Given the description of an element on the screen output the (x, y) to click on. 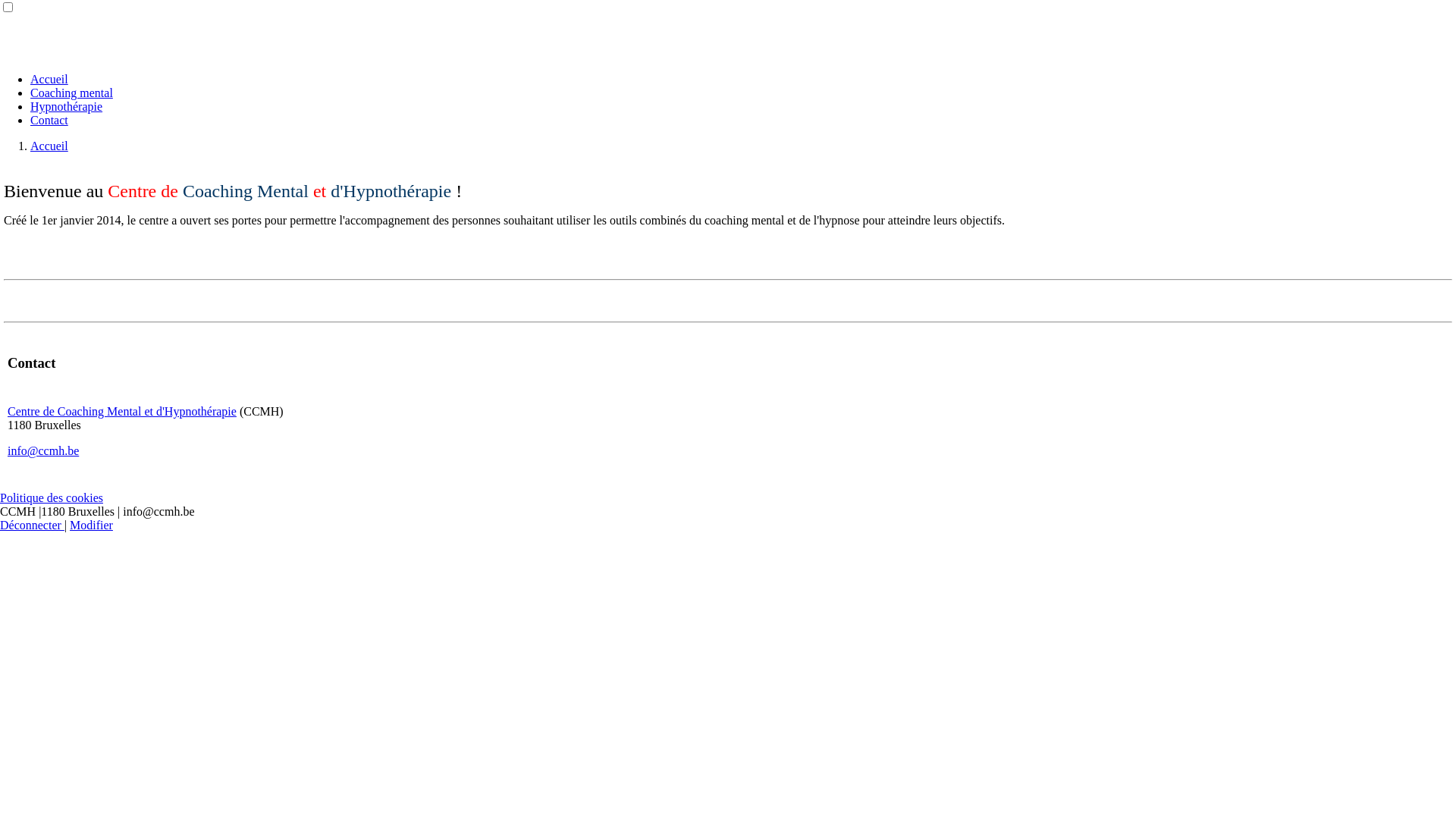
Accueil Element type: text (49, 145)
Modifier Element type: text (90, 524)
info@ccmh.be Element type: text (42, 450)
Politique des cookies Element type: text (51, 497)
Accueil Element type: text (49, 78)
Coaching mental Element type: text (71, 92)
Contact Element type: text (49, 119)
